Given the description of an element on the screen output the (x, y) to click on. 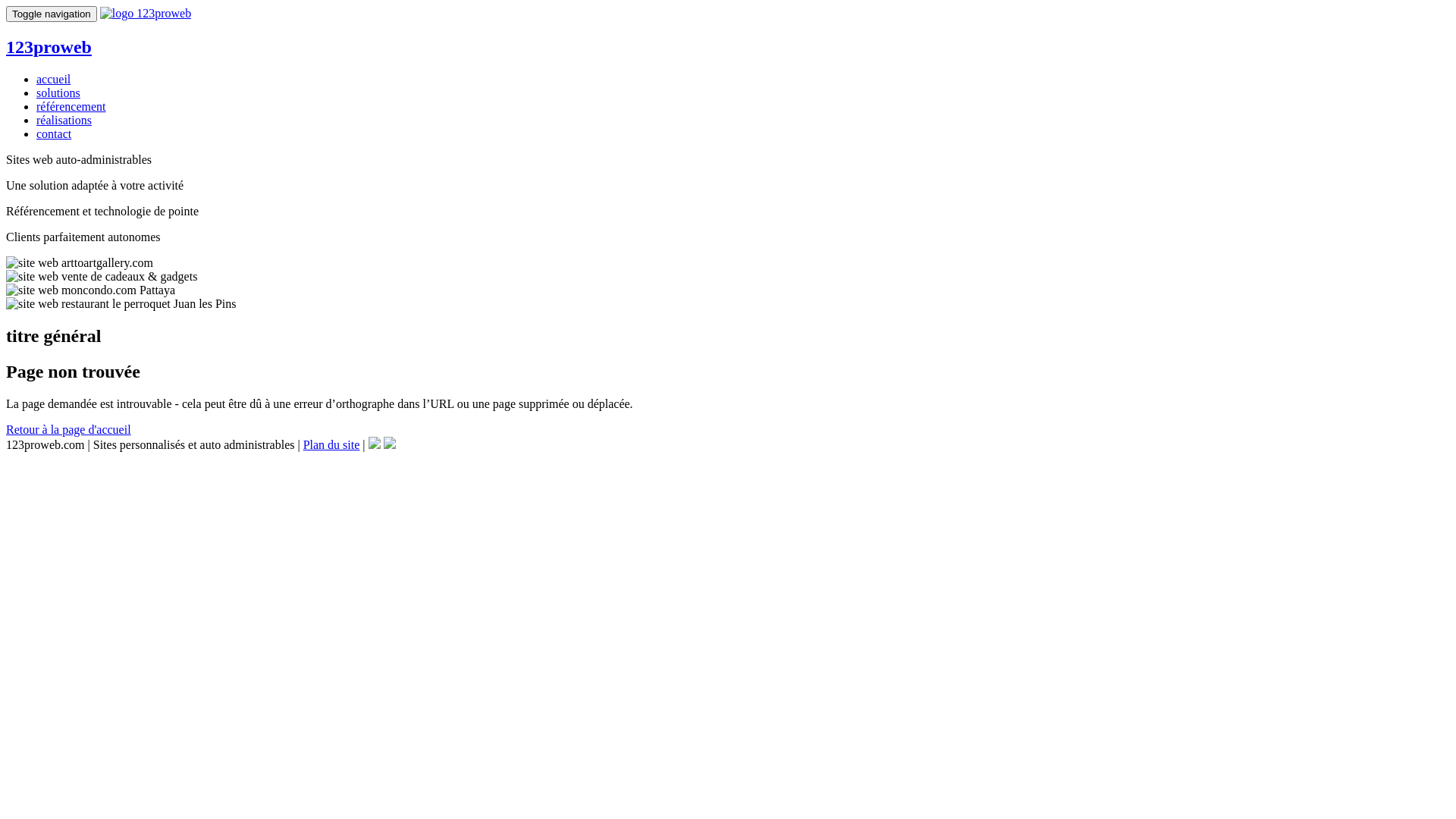
contact Element type: text (53, 133)
solutions Element type: text (58, 92)
accueil Element type: text (53, 78)
123proweb Element type: text (727, 62)
Plan du site Element type: text (331, 444)
Toggle navigation Element type: text (51, 13)
